Given the description of an element on the screen output the (x, y) to click on. 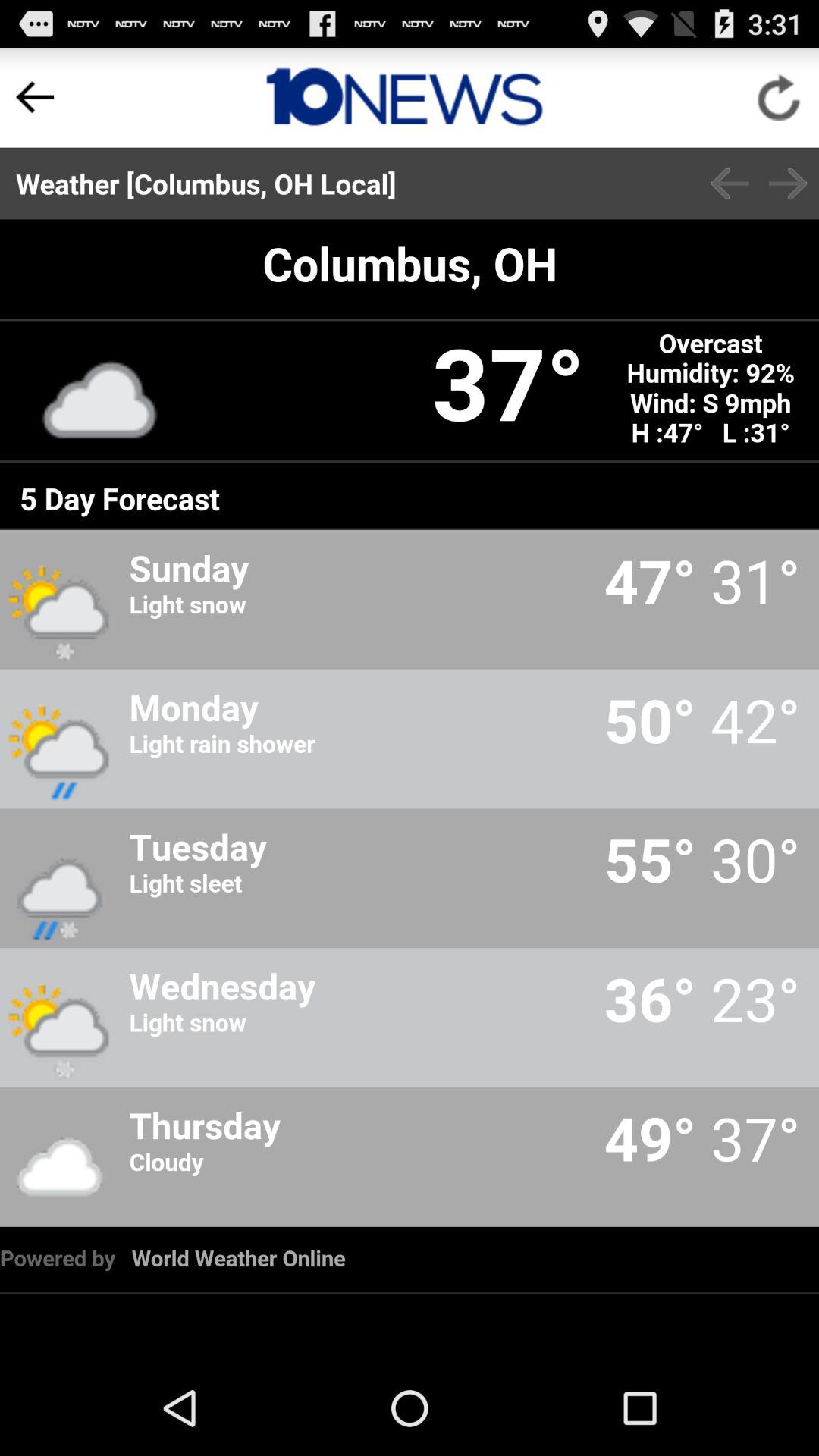
for search bar (404, 97)
